Given the description of an element on the screen output the (x, y) to click on. 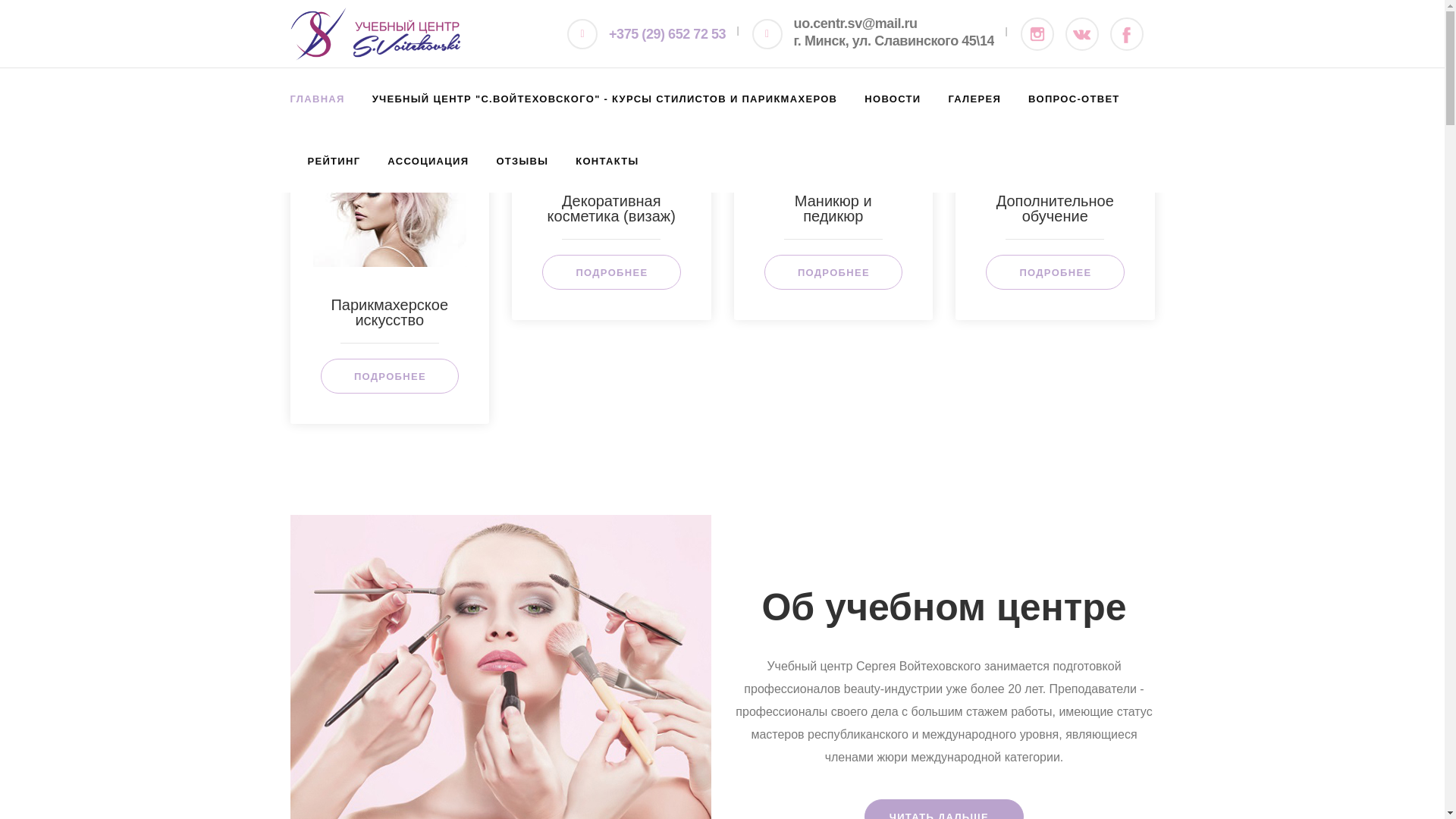
+375 (29) 652 72 53 Element type: text (666, 32)
uo.centr.sv@mail.ru Element type: text (893, 25)
Sign up Element type: text (18, 18)
